Given the description of an element on the screen output the (x, y) to click on. 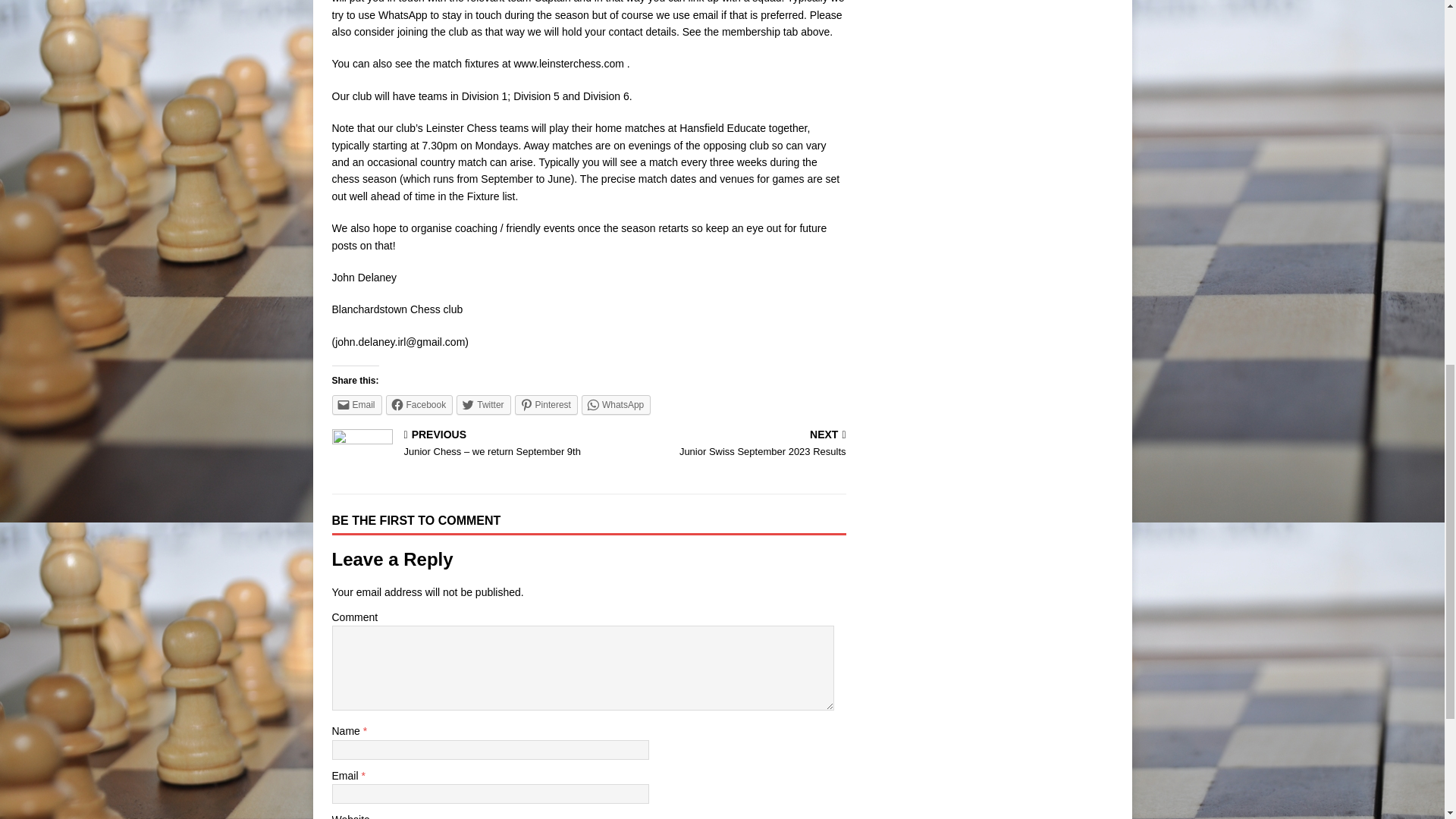
Click to share on Pinterest (546, 404)
Click to share on Twitter (484, 404)
Email (356, 404)
Click to share on WhatsApp (615, 404)
Click to email a link to a friend (356, 404)
Click to share on Facebook (418, 404)
